Given the description of an element on the screen output the (x, y) to click on. 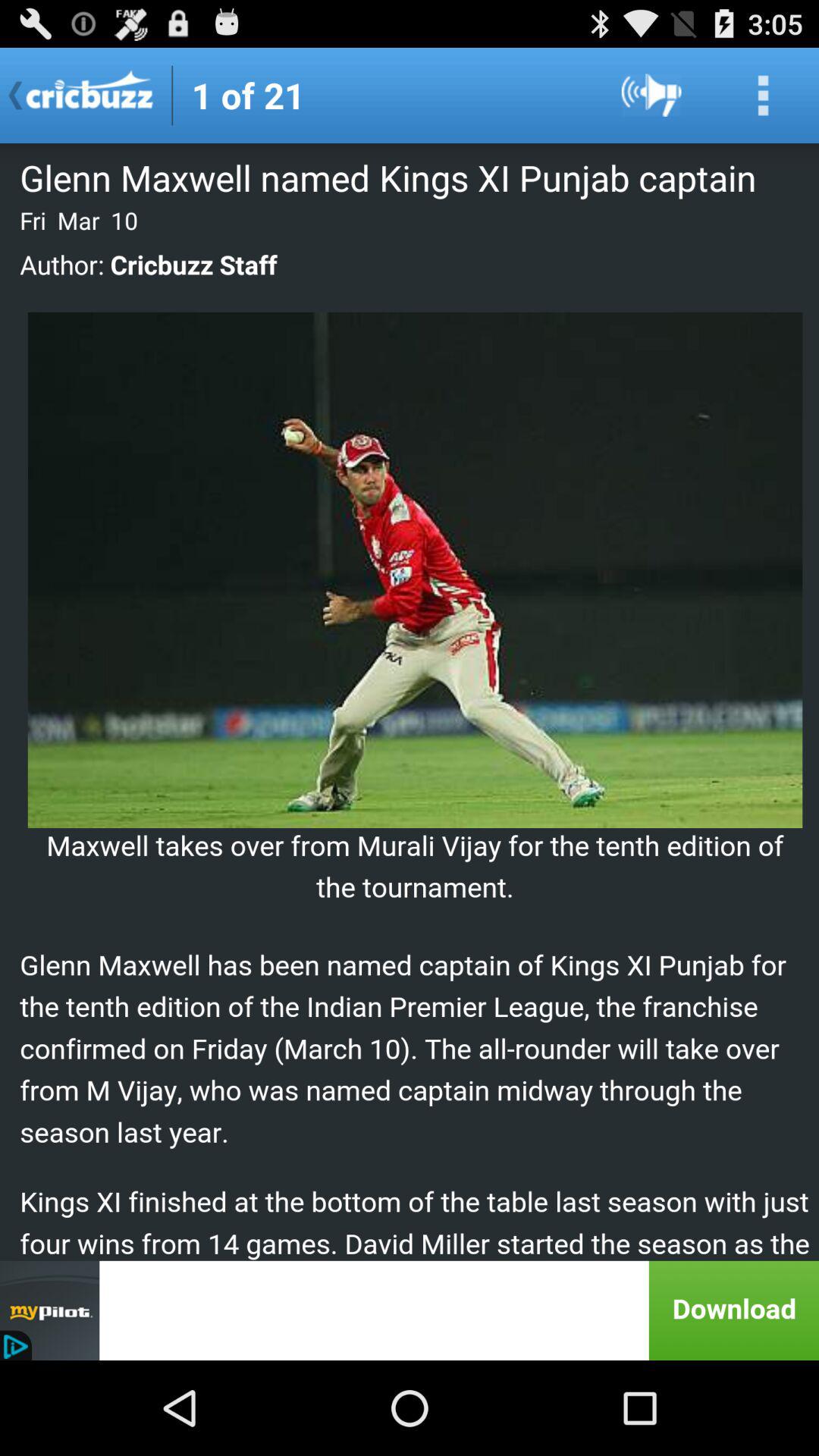
sound (651, 95)
